Given the description of an element on the screen output the (x, y) to click on. 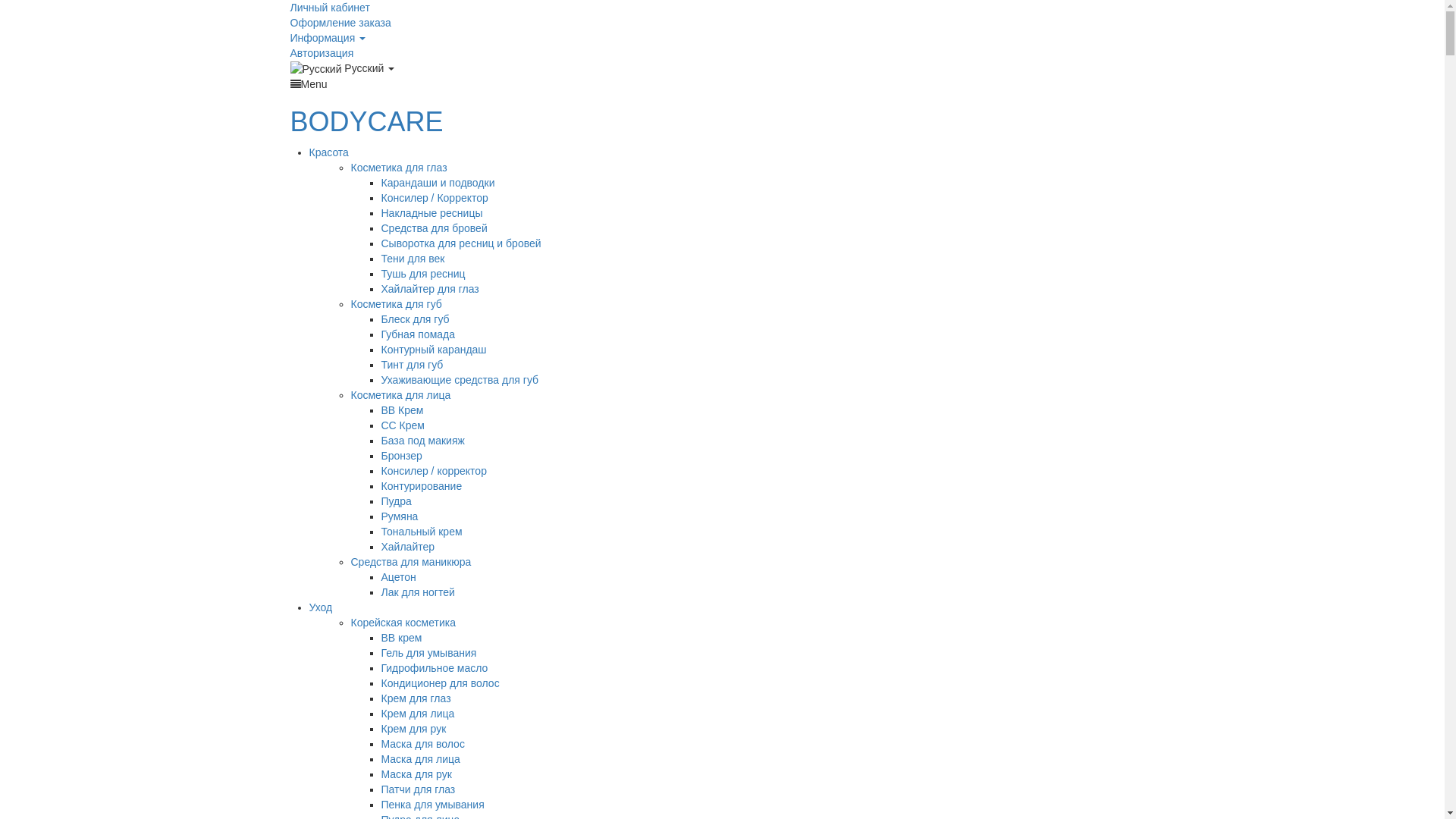
BODYCARE Element type: text (365, 121)
